Given the description of an element on the screen output the (x, y) to click on. 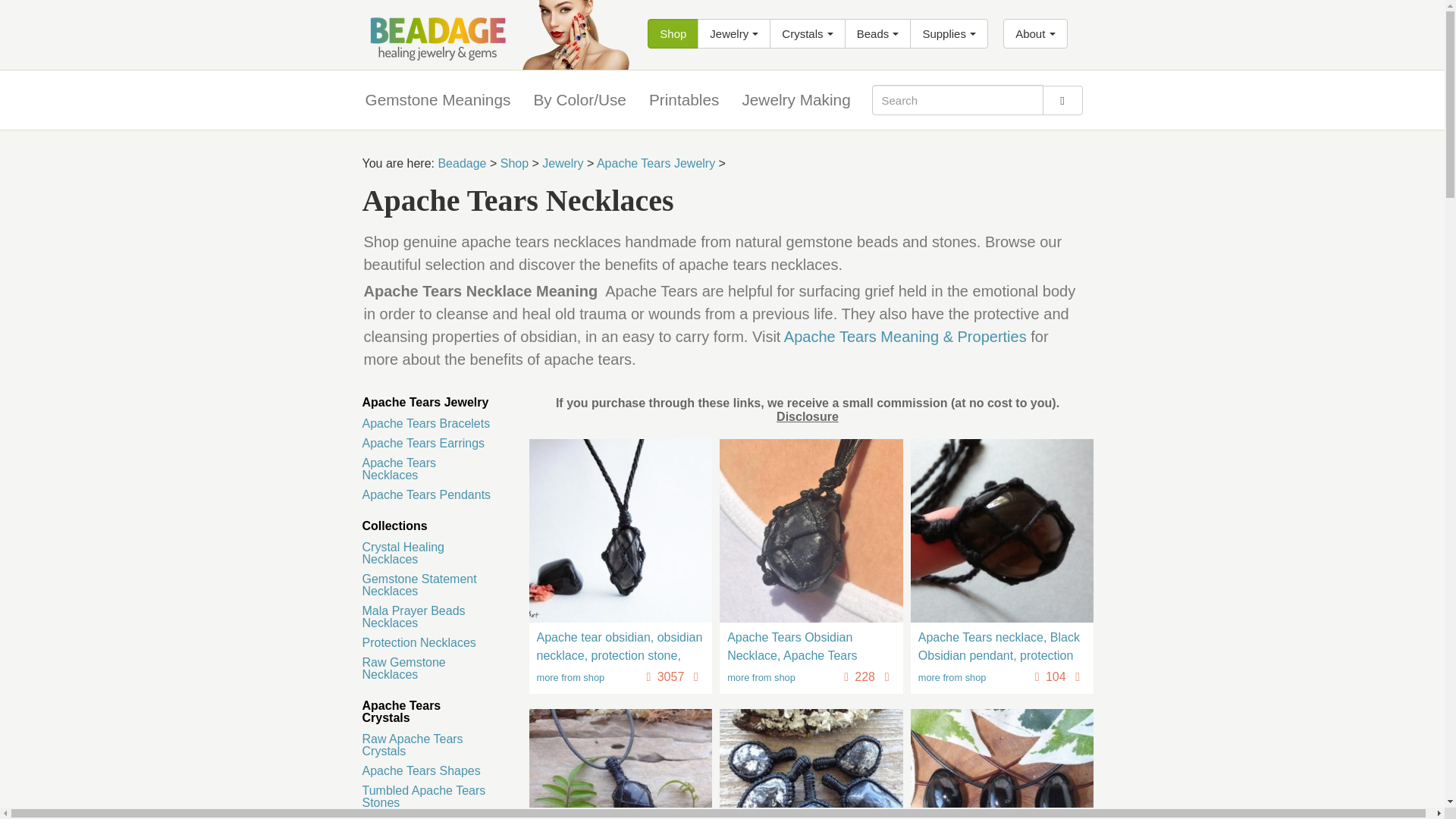
Jewelry (733, 33)
Shop (672, 33)
About (1035, 33)
Jewelry (733, 33)
